Given the description of an element on the screen output the (x, y) to click on. 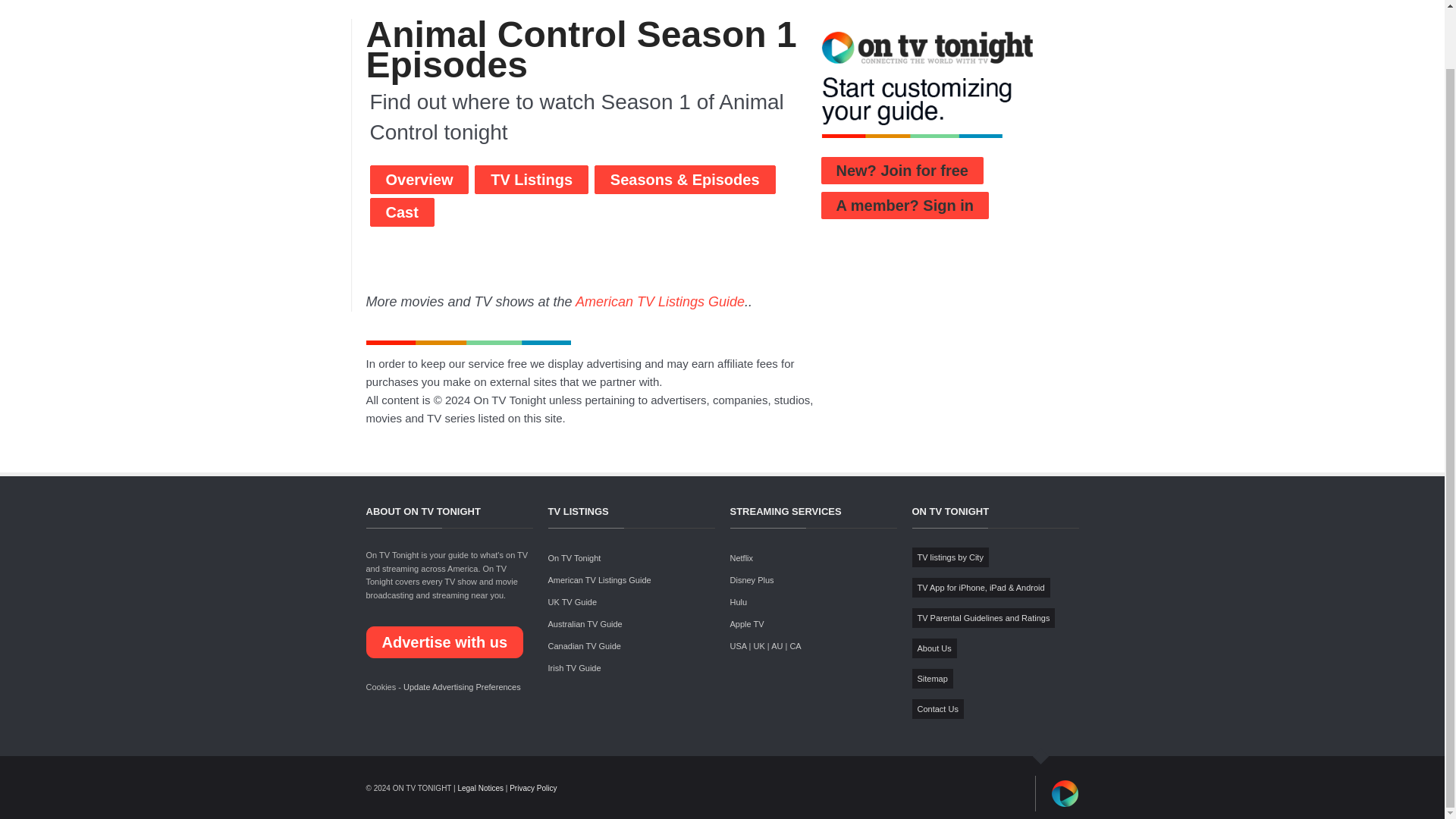
Cast (401, 212)
New? Join for free (901, 170)
American TV Listings Guide (598, 579)
HOME (657, 2)
On TV Tonight (573, 557)
Advertise with us (443, 642)
Irish TV Guide (573, 667)
Overview (418, 179)
UK TV Guide (571, 601)
TV REVIEWS (905, 2)
